Given the description of an element on the screen output the (x, y) to click on. 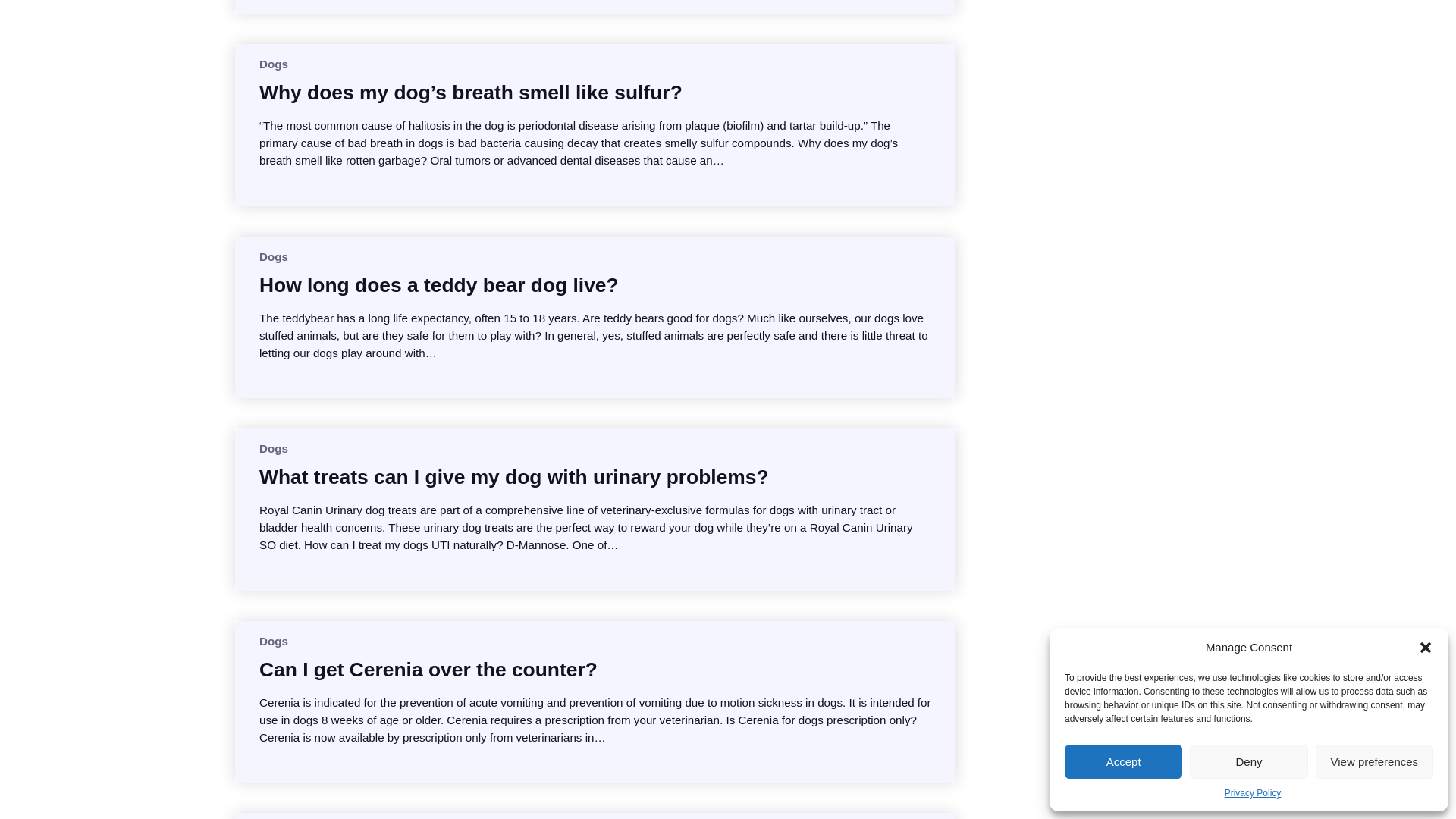
How long does a teddy bear dog live? (438, 284)
What treats can I give my dog with urinary problems? (513, 476)
Dogs (273, 256)
Dogs (273, 640)
Dogs (273, 448)
Can I get Cerenia over the counter? (427, 669)
Dogs (273, 63)
